Given the description of an element on the screen output the (x, y) to click on. 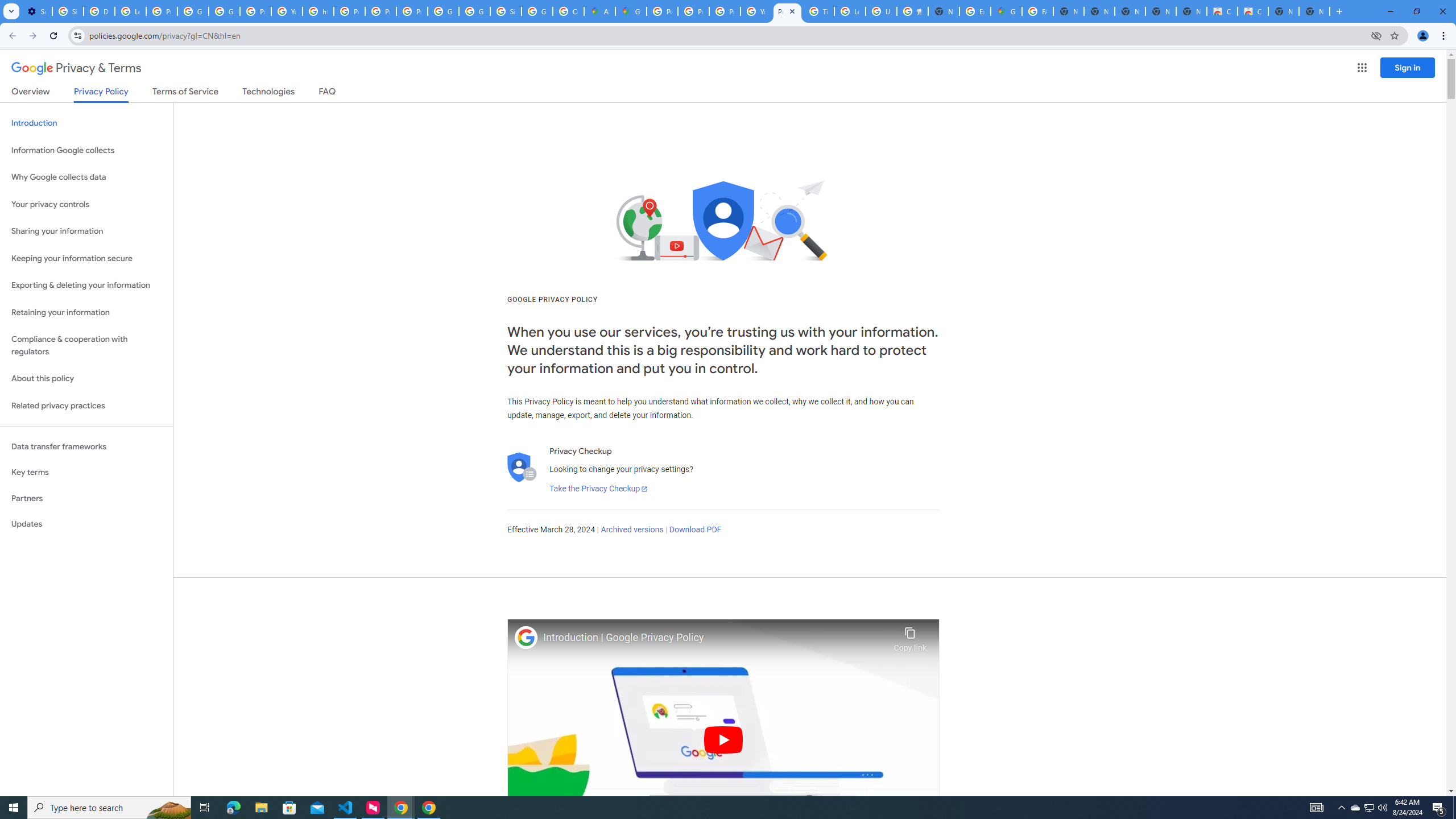
Privacy Help Center - Policies Help (349, 11)
YouTube (286, 11)
Google Maps (1005, 11)
Tips & tricks for Chrome - Google Chrome Help (818, 11)
New Tab (1314, 11)
Play (723, 739)
